Given the description of an element on the screen output the (x, y) to click on. 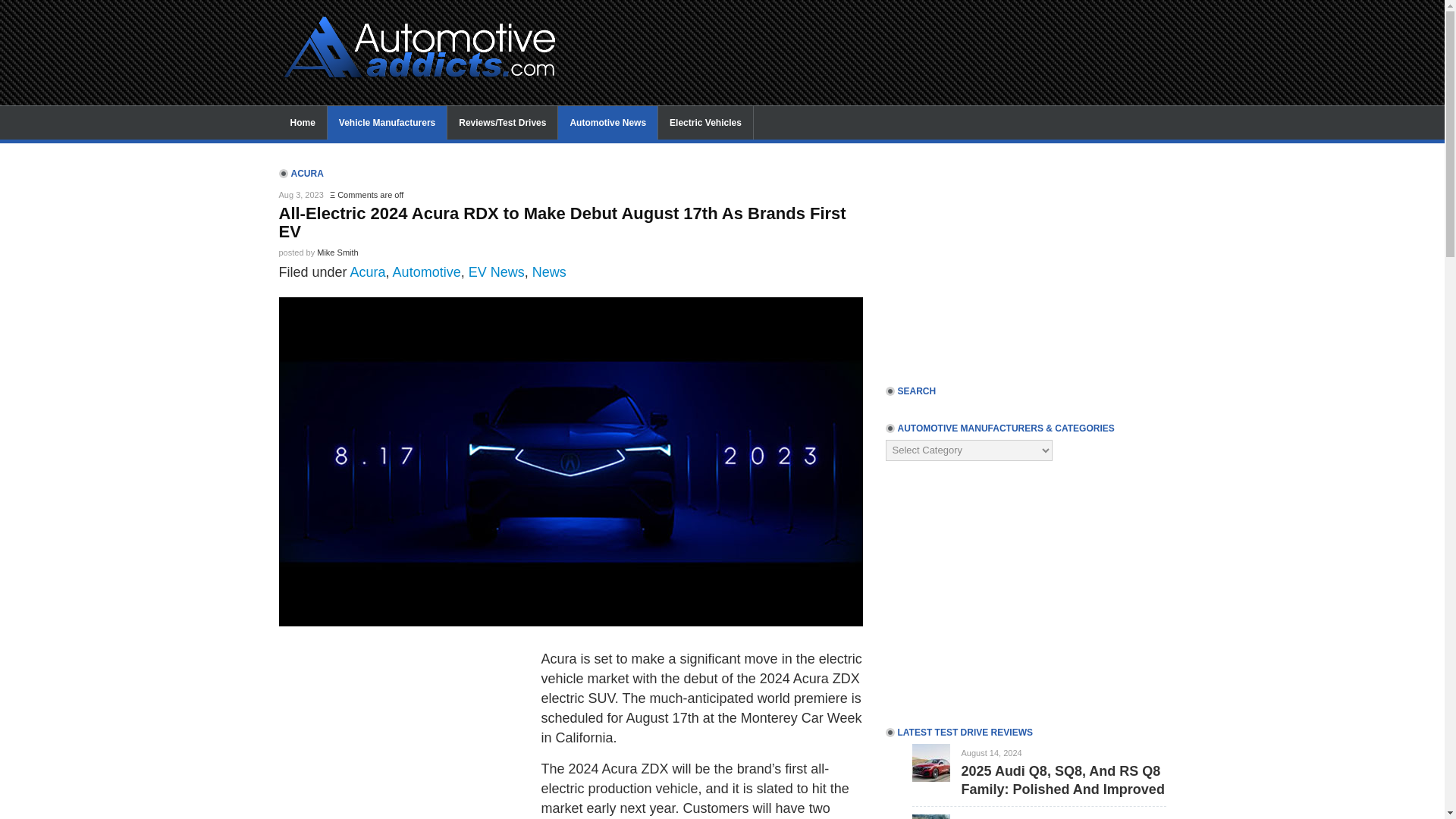
Advertisement (858, 33)
Posts by Mike Smith (337, 252)
Advertisement (406, 737)
Vehicle Manufacturers (386, 122)
Advertisement (1024, 261)
Home (302, 122)
